Given the description of an element on the screen output the (x, y) to click on. 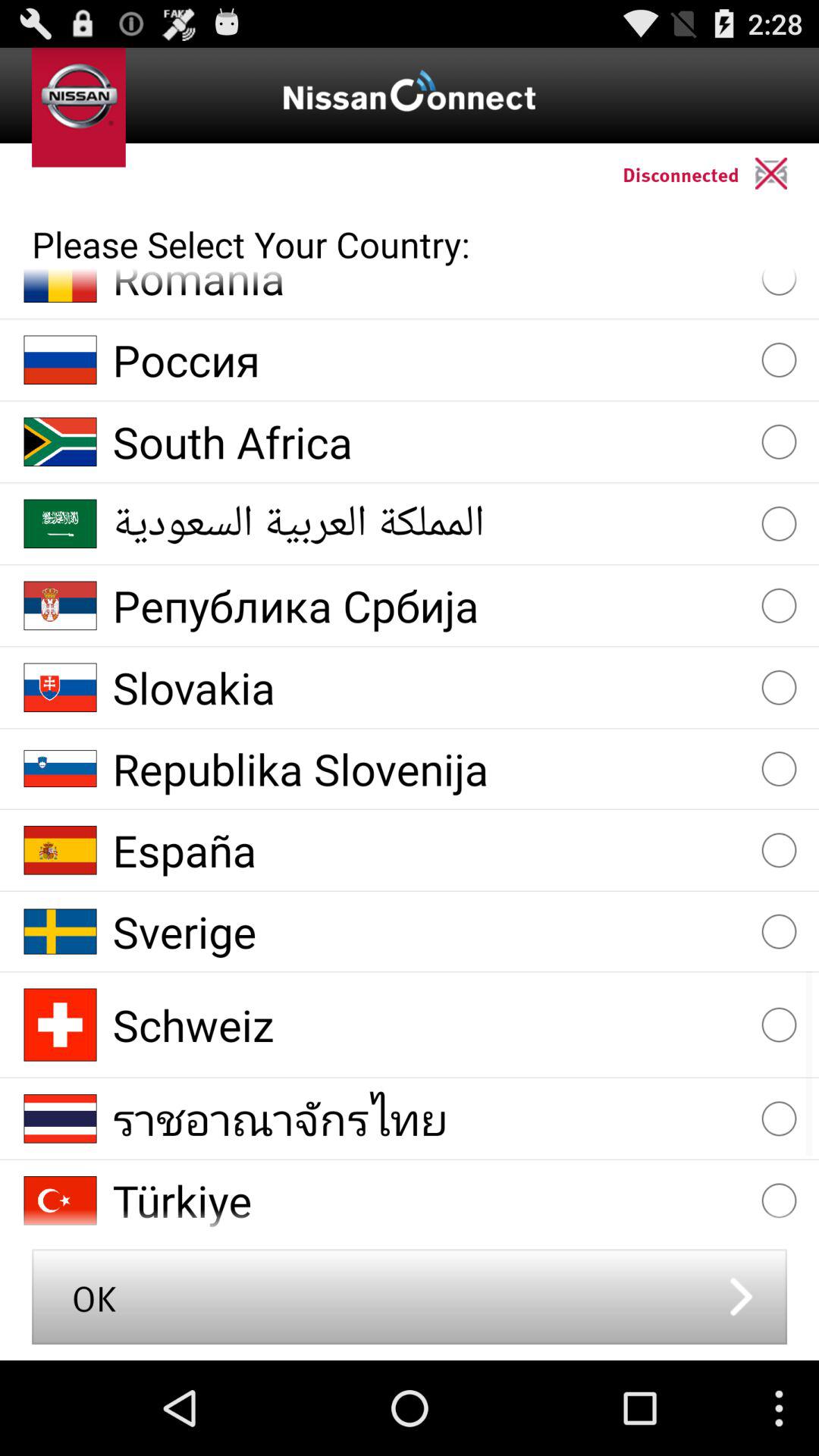
choose slovakia icon (429, 687)
